Given the description of an element on the screen output the (x, y) to click on. 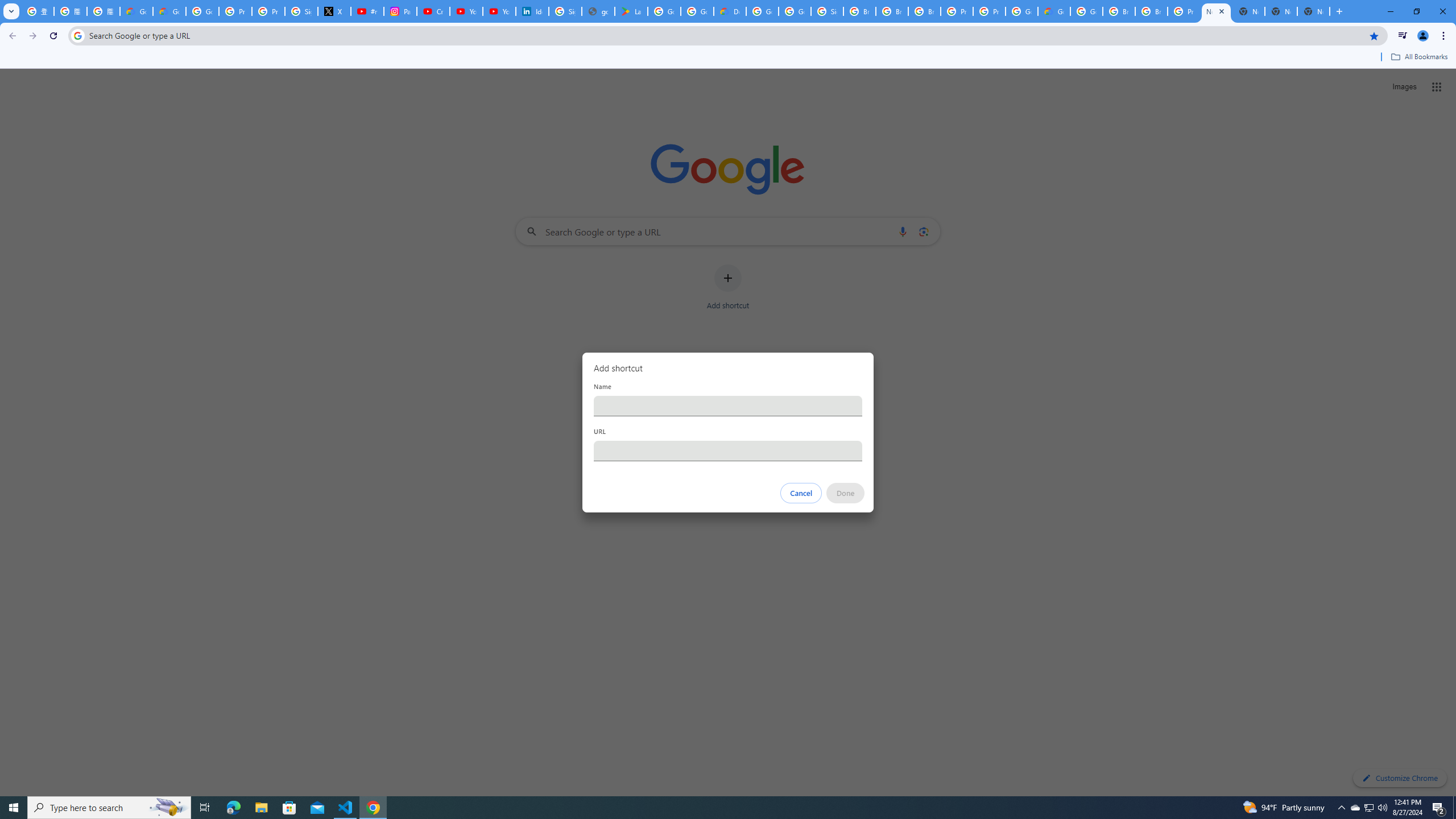
Sign in - Google Accounts (827, 11)
Address and search bar (725, 35)
YouTube Culture & Trends - YouTube Top 10, 2021 (499, 11)
Browse Chrome as a guest - Computer - Google Chrome Help (1150, 11)
Browse Chrome as a guest - Computer - Google Chrome Help (891, 11)
Google Cloud Estimate Summary (1053, 11)
#nbabasketballhighlights - YouTube (367, 11)
Browse Chrome as a guest - Computer - Google Chrome Help (924, 11)
Google Workspace - Specific Terms (697, 11)
Google Cloud Privacy Notice (136, 11)
Done (845, 493)
